Given the description of an element on the screen output the (x, y) to click on. 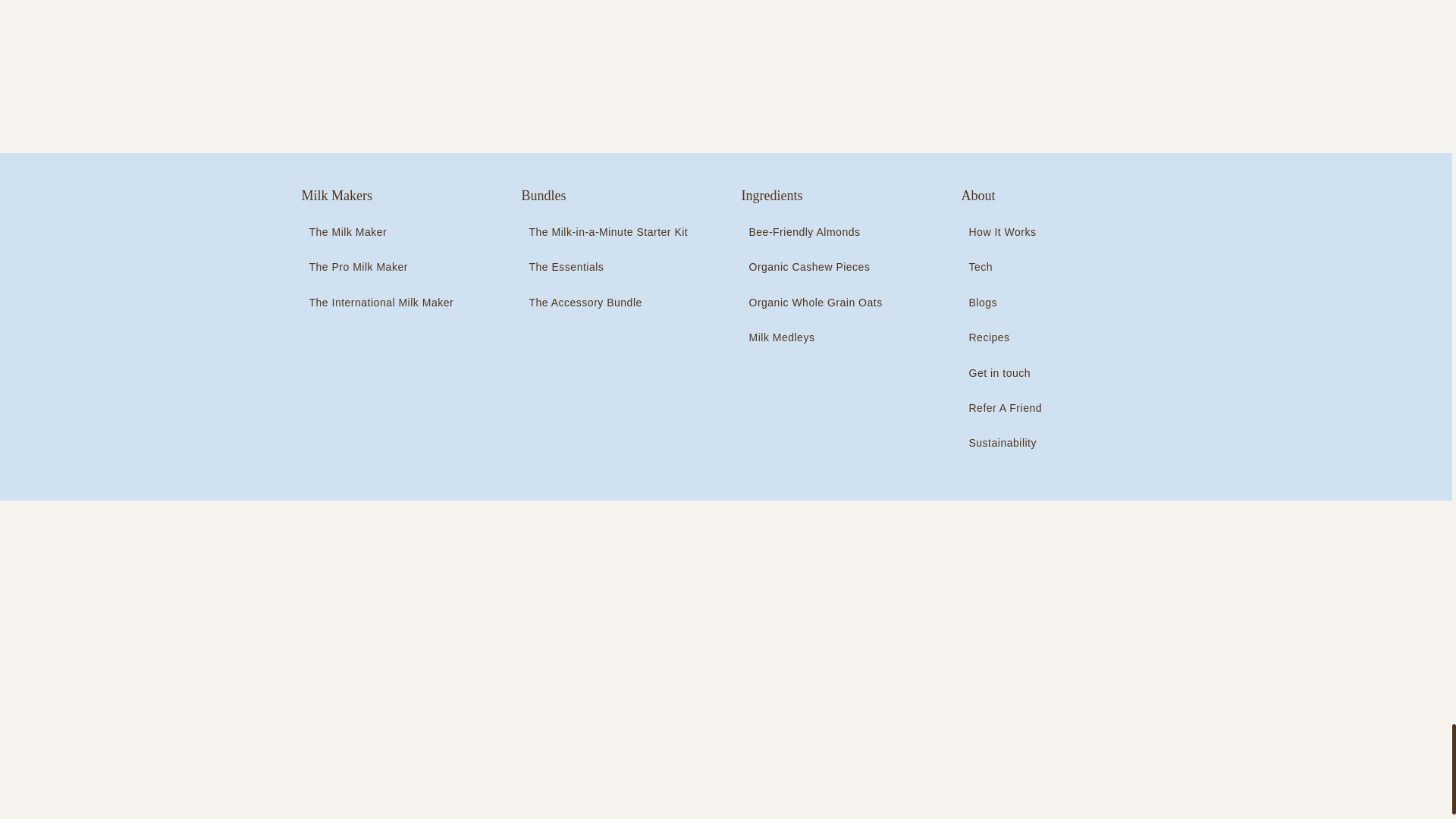
The Essentials (608, 266)
Recipes (1004, 337)
Tech  (1004, 266)
The Accessory Bundle (608, 302)
Milk Medleys (815, 337)
The Pro Milk Maker (381, 266)
Bee-Friendly Almonds (815, 231)
The Milk-in-a-Minute Starter Kit (608, 231)
Organic Cashew Pieces (815, 266)
How It Works (1004, 231)
The Milk Maker (381, 231)
Refer A Friend (1004, 407)
Sustainability (1004, 442)
Get in touch (1004, 372)
Blogs (1004, 302)
